Given the description of an element on the screen output the (x, y) to click on. 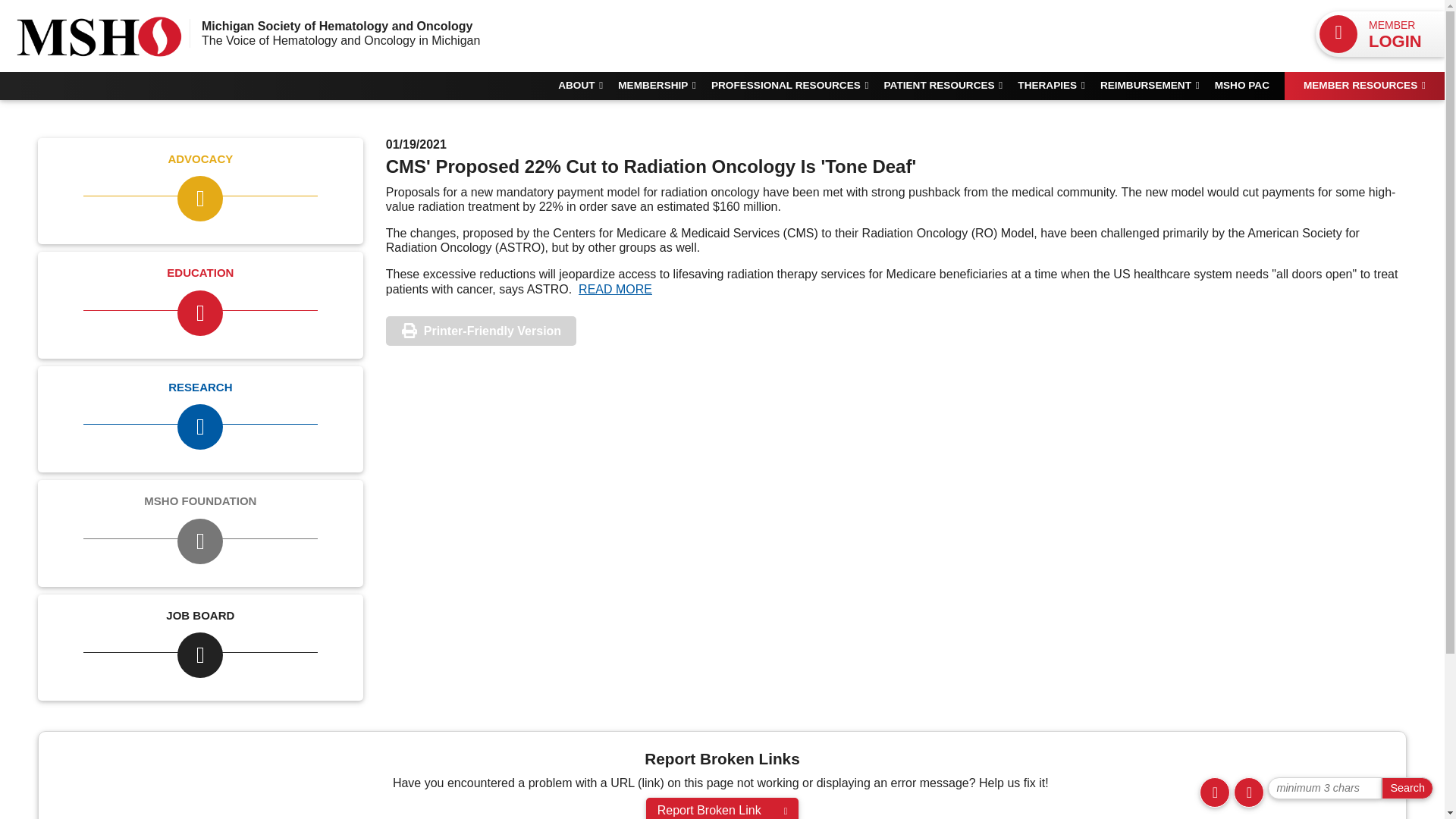
PATIENT RESOURCES (950, 85)
Search (1406, 788)
REIMBURSEMENT (1157, 85)
MEMBERSHIP (664, 85)
Search (1406, 788)
PROFESSIONAL RESOURCES (797, 85)
THERAPIES (1058, 85)
ABOUT (587, 85)
Search (1406, 788)
